Given the description of an element on the screen output the (x, y) to click on. 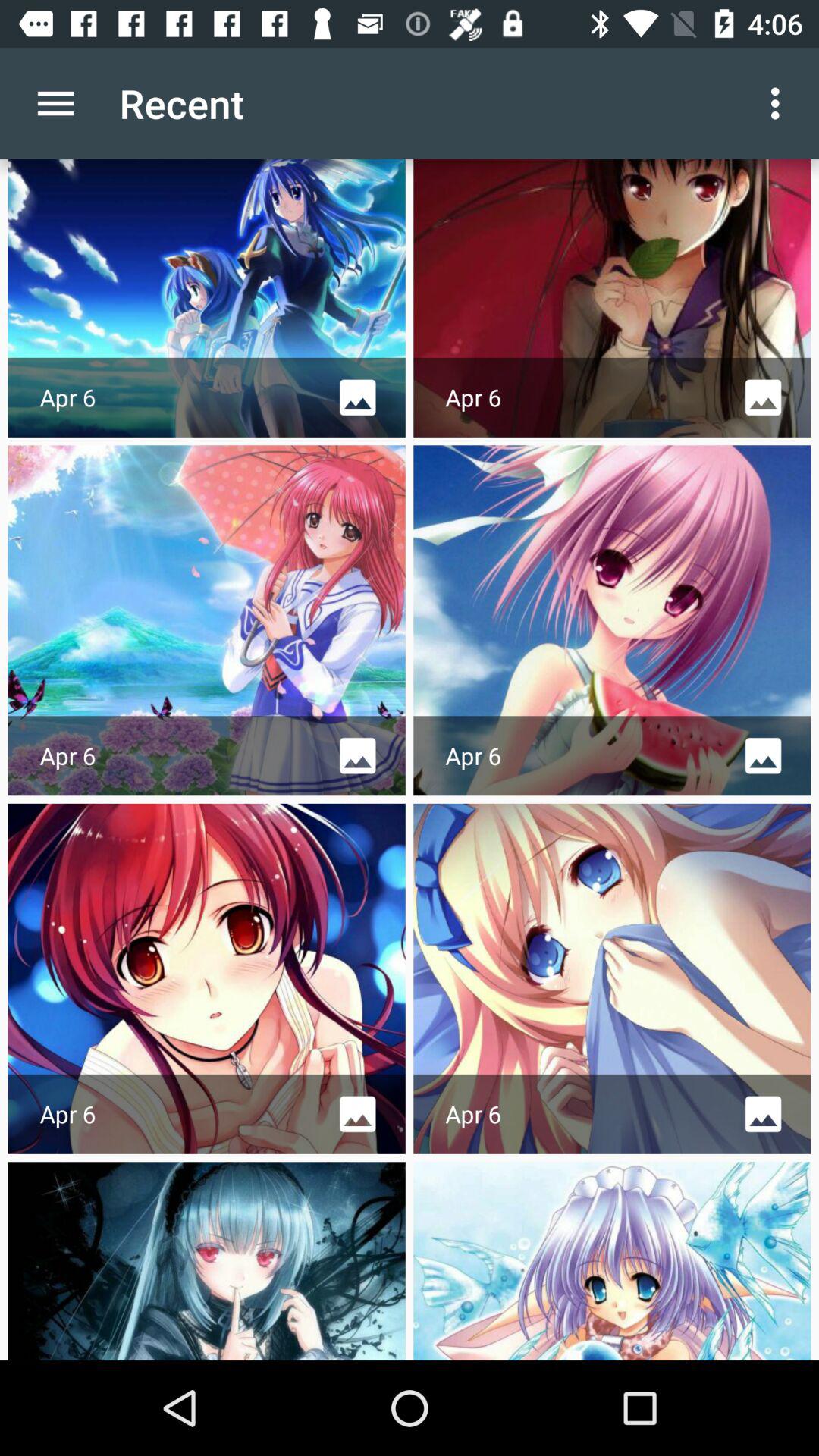
press icon next to recent app (55, 103)
